Given the description of an element on the screen output the (x, y) to click on. 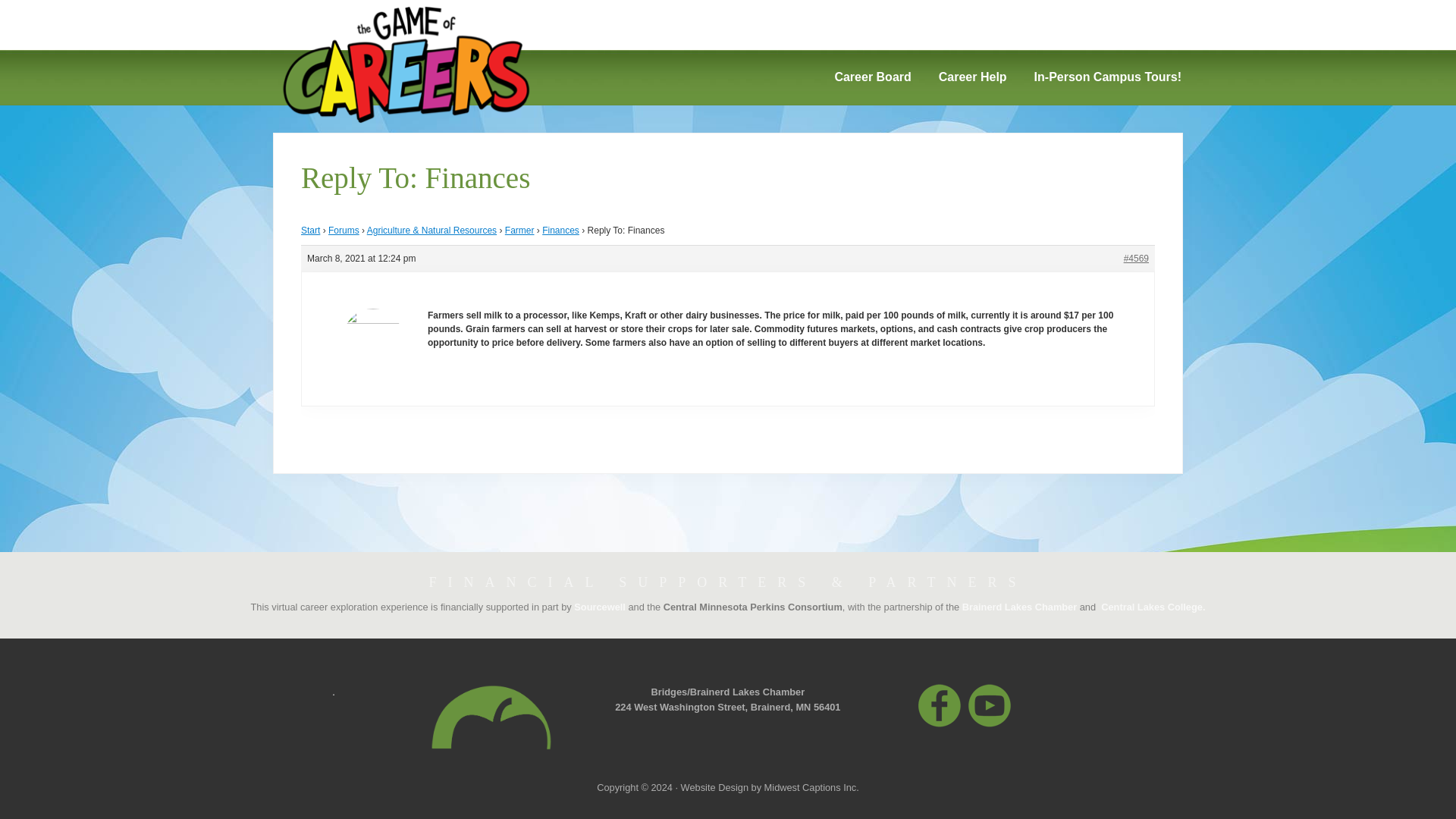
Farmer (519, 230)
Sourcewell (599, 606)
Career Board (872, 77)
Start (310, 230)
In-Person Campus Tours! (1107, 77)
Brainerd Lakes Chamber (1019, 606)
Career Help (972, 77)
Central Lakes College. (1152, 606)
Forums (344, 230)
Finances (560, 230)
